Given the description of an element on the screen output the (x, y) to click on. 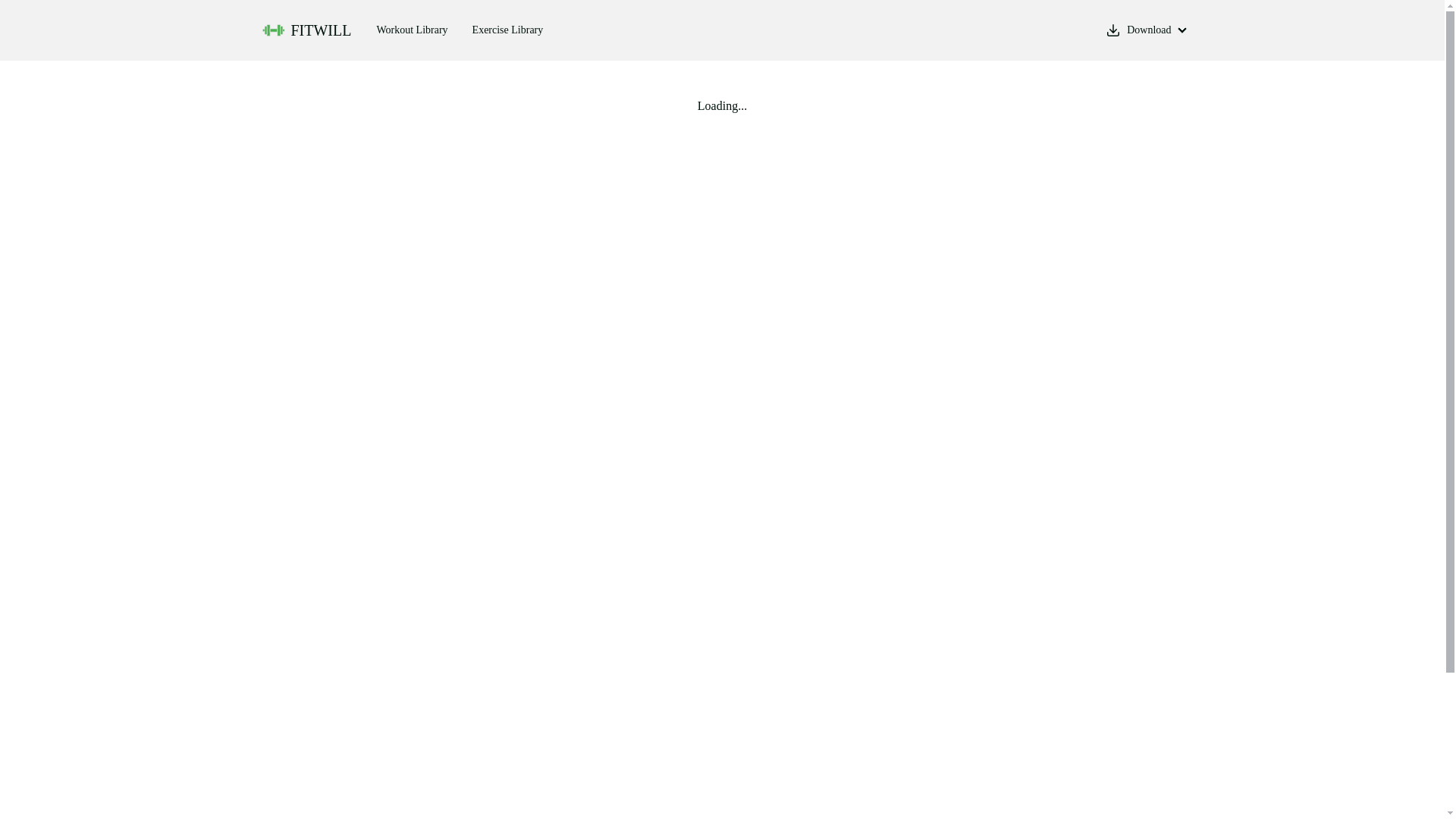
FITWILL (308, 30)
Exercise Library (508, 30)
Workout Library (412, 30)
